Given the description of an element on the screen output the (x, y) to click on. 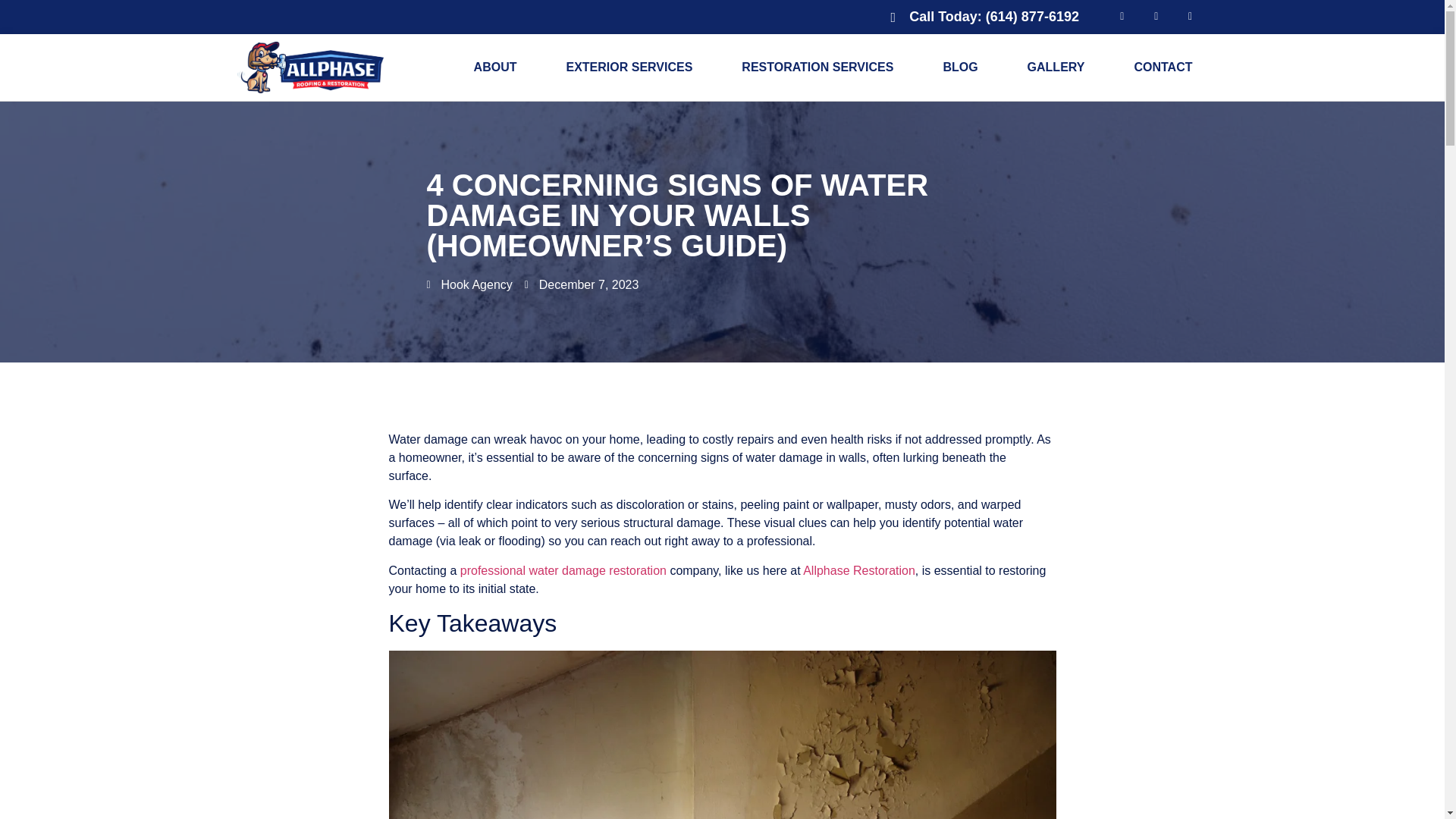
ABOUT (495, 67)
GALLERY (1055, 67)
CONTACT (1162, 67)
RESTORATION SERVICES (817, 67)
EXTERIOR SERVICES (628, 67)
BLOG (959, 67)
